Given the description of an element on the screen output the (x, y) to click on. 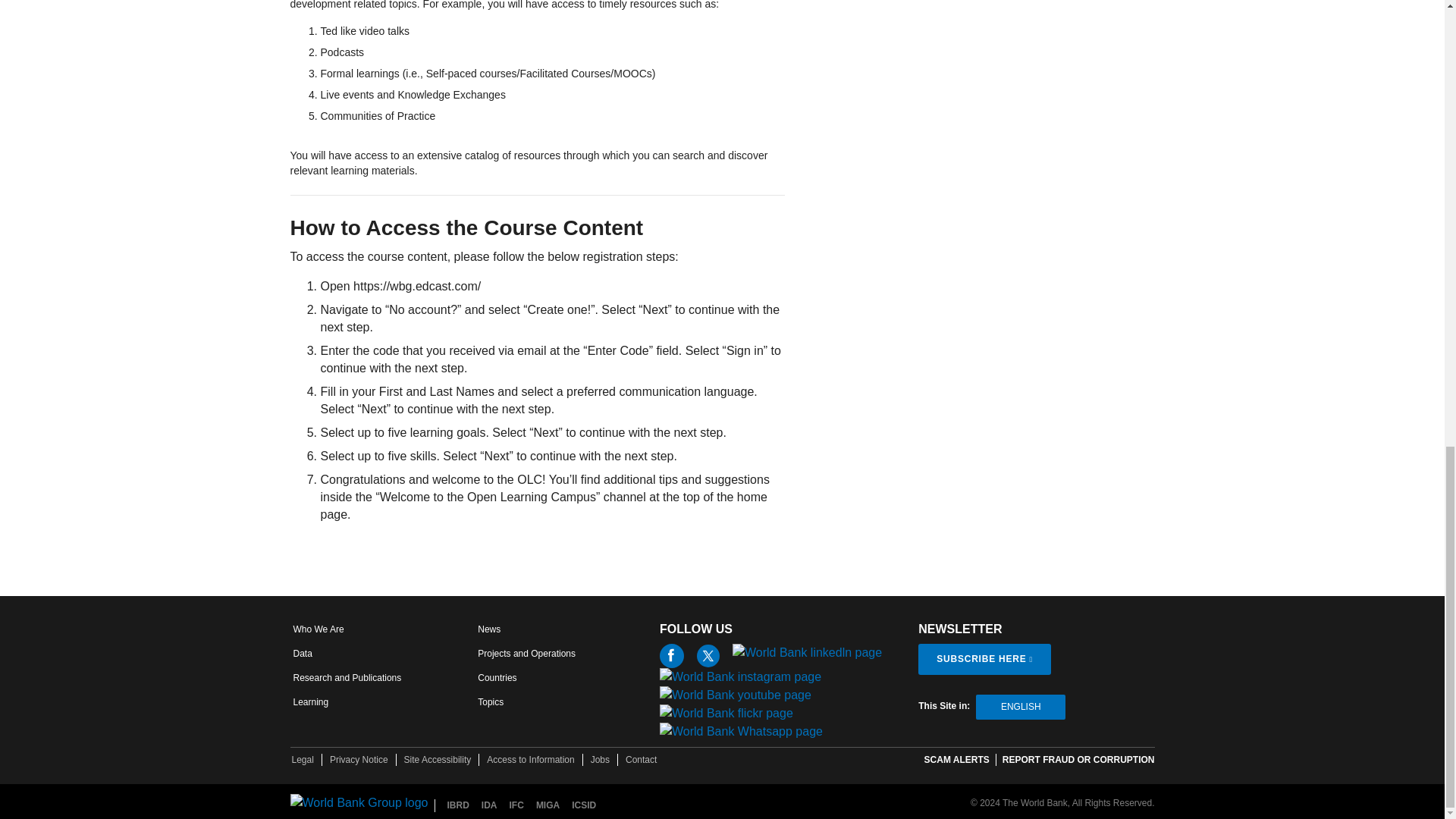
IFC (516, 805)
International Centre for Settlement of Investment Disputes (584, 805)
Site Accessibility (438, 759)
Who We Are (317, 629)
Topics (490, 701)
Access to Information (529, 759)
Contact (641, 759)
International Finance Corporation (516, 805)
Jobs (600, 759)
Privacy Notice (359, 759)
